Given the description of an element on the screen output the (x, y) to click on. 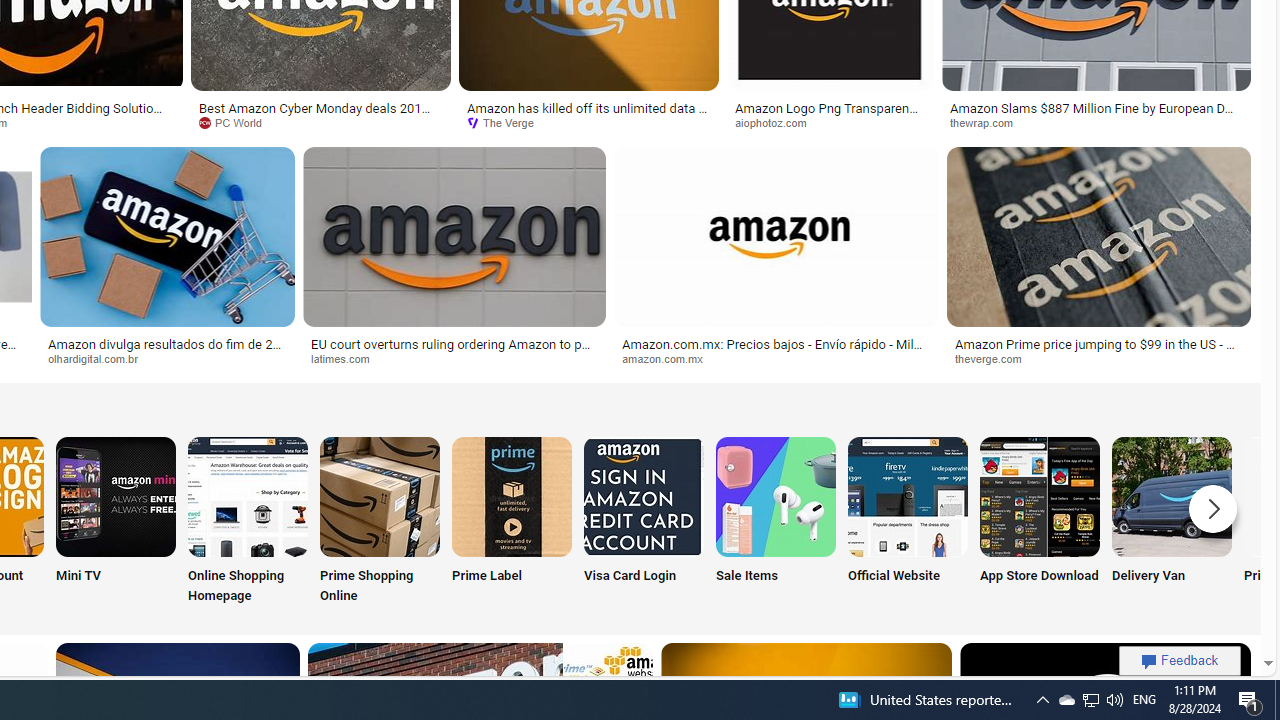
Amazon Prime Label (511, 496)
Delivery Van (1171, 521)
Amazon Prime Label Prime Label (511, 521)
PC World (320, 123)
latimes.com (347, 358)
olhardigital.com.br (100, 358)
Amazon Sale Items Sale Items (775, 521)
Amazon Delivery Van Delivery Van (1171, 521)
Amazon Delivery Van (1171, 496)
Image result for amazon (1098, 236)
